Given the description of an element on the screen output the (x, y) to click on. 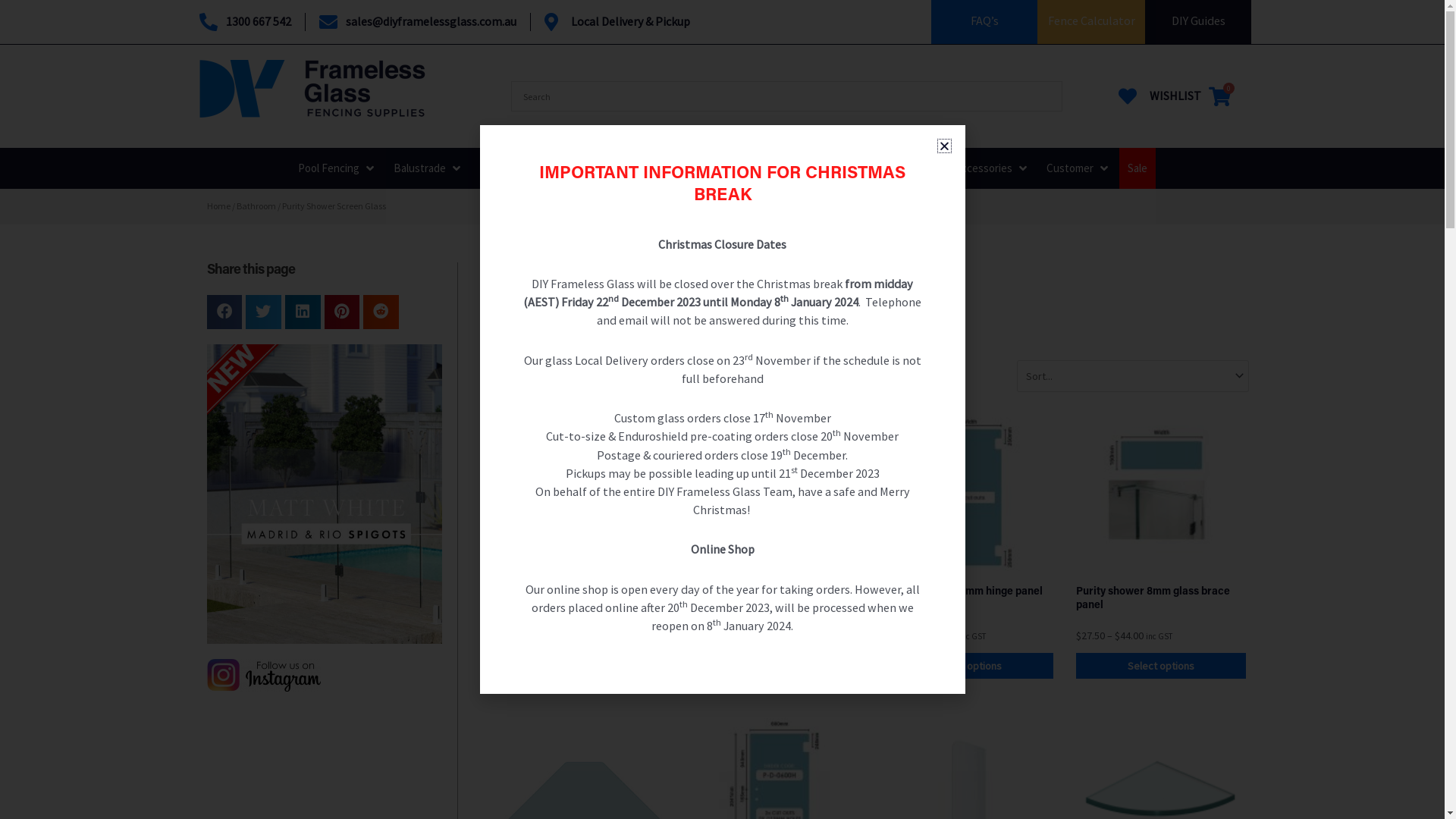
1300 667 542 Element type: text (244, 21)
DIY Frameless Glass | Fencing Supplies Australia Element type: hover (312, 88)
Purity shower 10mm return Element type: text (564, 591)
Purity shower 8mm glass brace panel Element type: text (1153, 598)
Sale Element type: text (1136, 168)
Other Fencing Element type: text (651, 168)
Bathroom Element type: text (256, 205)
sales@diyframelessglass.com.au Element type: text (416, 21)
WISHLIST Element type: text (1157, 96)
follow us on Instagram Element type: hover (263, 674)
Home Element type: text (217, 205)
Pool Fencing Element type: text (327, 168)
DIY Guides Element type: text (1198, 20)
Select options Element type: text (1160, 665)
Handrails Element type: text (560, 168)
Trex Decking Element type: text (831, 168)
Purity shower 10mm hinge panel Element type: text (963, 591)
Select options Element type: text (583, 665)
Hardware & Accessories Element type: text (954, 168)
0 Element type: text (1219, 95)
Glass Element type: text (491, 168)
Local Delivery & Pickup Element type: text (617, 21)
Select options Element type: text (776, 665)
Bathroom Element type: text (742, 168)
Customer Element type: text (1069, 168)
here Element type: text (730, 313)
Select options Element type: text (969, 665)
Purity Shower door (doorknob) Element type: text (767, 591)
Fence Calculator Element type: text (1091, 20)
Balustrade Element type: text (418, 168)
